Given the description of an element on the screen output the (x, y) to click on. 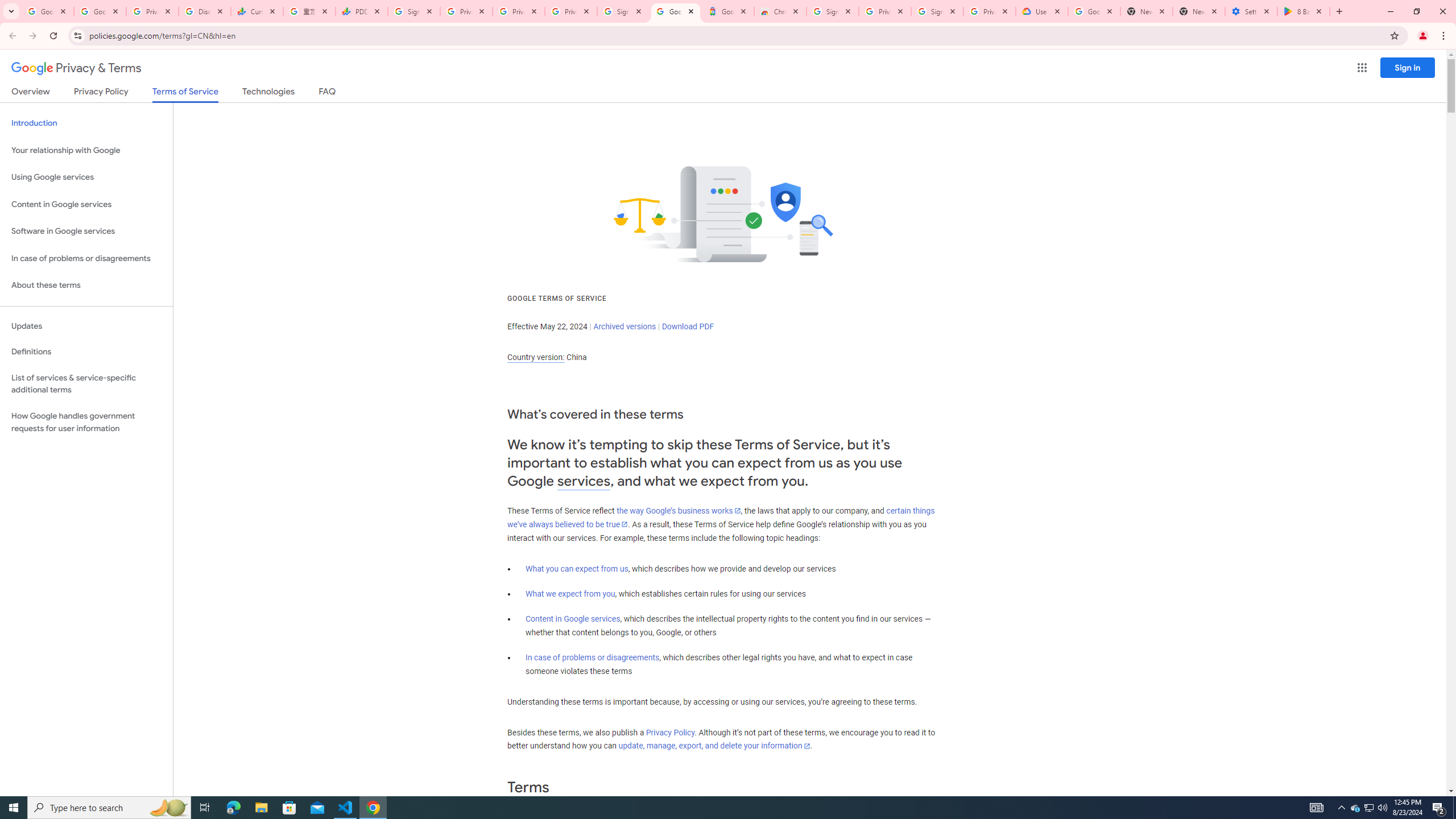
List of services & service-specific additional terms (86, 383)
Terms of Service (184, 94)
What we expect from you (570, 593)
Privacy Checkup (571, 11)
How Google handles government requests for user information (86, 422)
In case of problems or disagreements (592, 657)
update, manage, export, and delete your information (714, 746)
Privacy & Terms (76, 68)
